Given the description of an element on the screen output the (x, y) to click on. 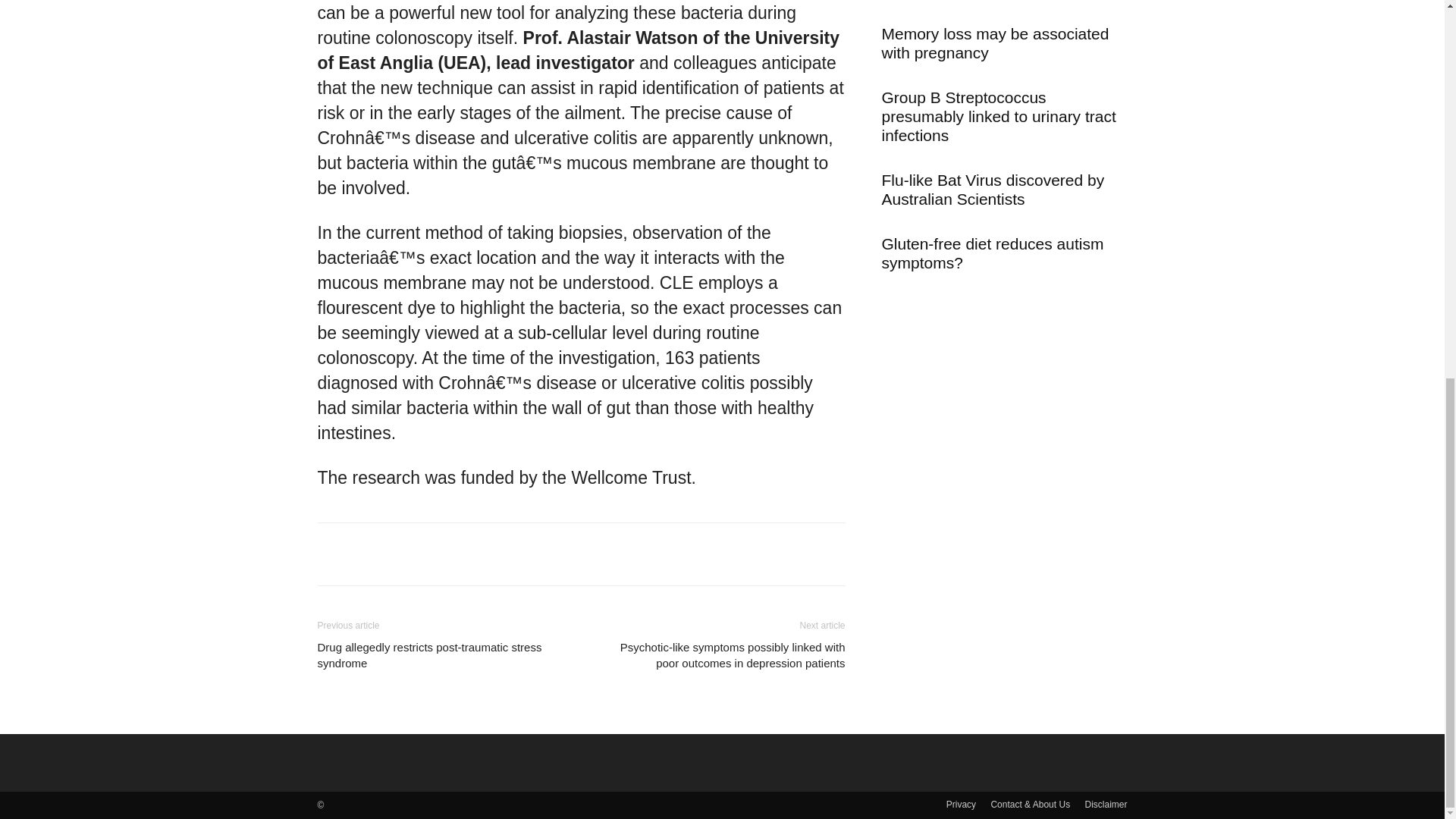
Flu-like Bat Virus discovered by Australian Scientists (991, 189)
Memory loss may be associated with pregnancy (994, 43)
Gluten-free diet reduces autism symptoms? (991, 253)
Drug allegedly restricts post-traumatic stress syndrome (439, 654)
